Given the description of an element on the screen output the (x, y) to click on. 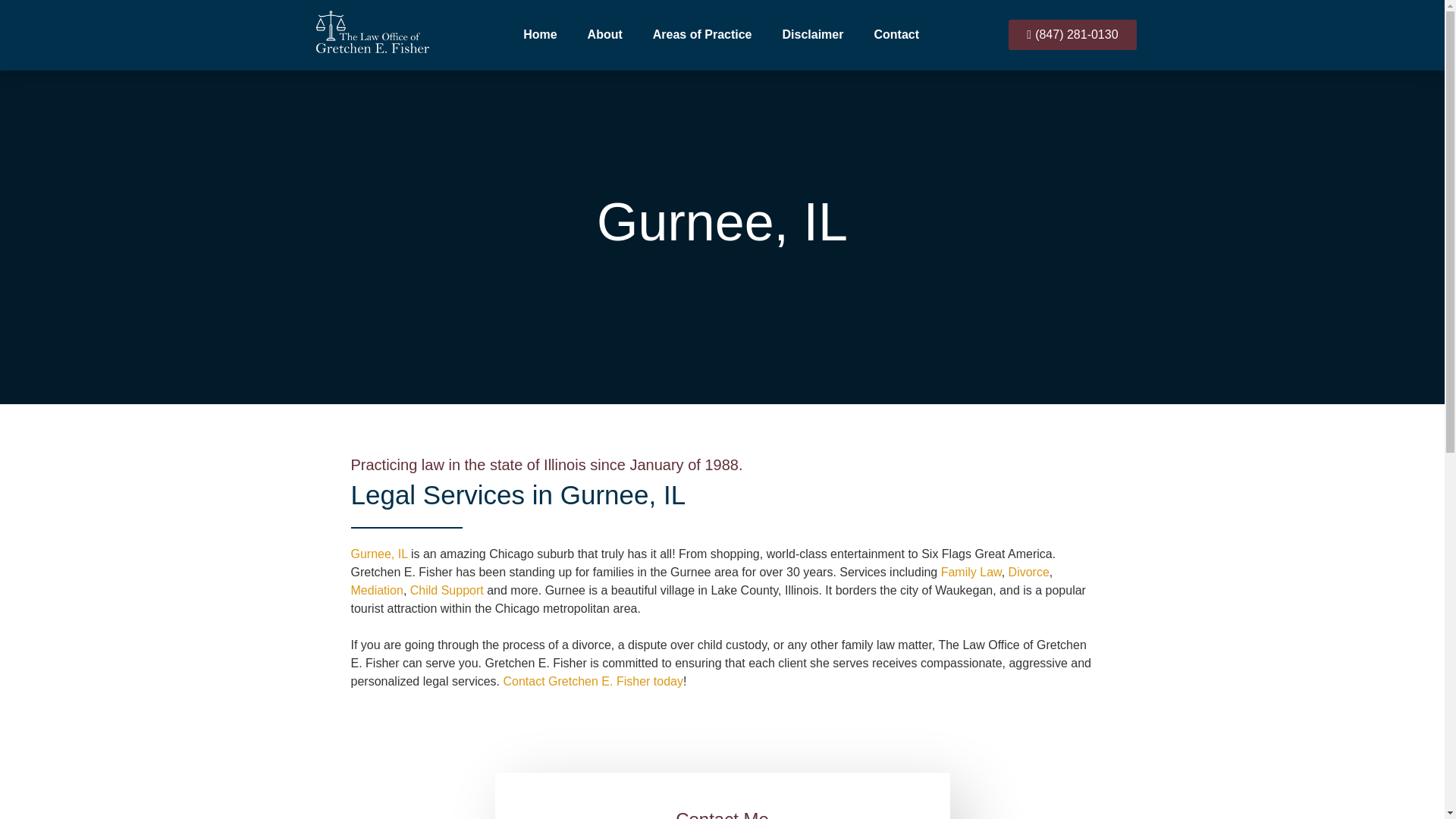
Gurnee, IL (378, 553)
Disclaimer (813, 34)
About (604, 34)
Family Law (970, 571)
Home (540, 34)
Contact (896, 34)
Contact Gretchen E. Fisher today (592, 680)
Divorce (1029, 571)
Mediation (376, 590)
Areas of Practice (702, 34)
